Given the description of an element on the screen output the (x, y) to click on. 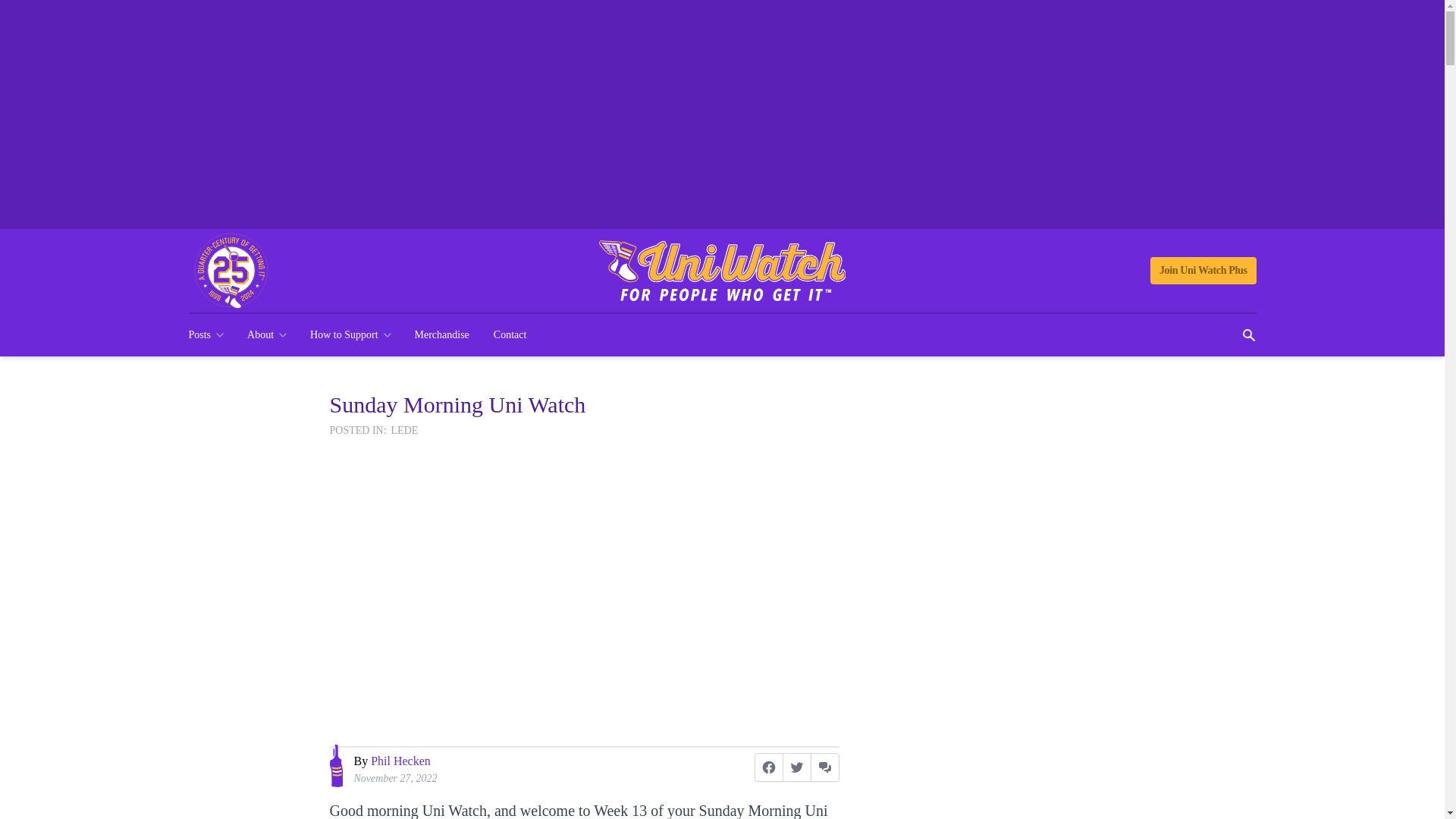
Uni Watch (721, 270)
Uni Watch (721, 270)
Share on Twitter (796, 767)
Share on Facebook (768, 767)
Join Uni Watch Plus (1203, 270)
